Given the description of an element on the screen output the (x, y) to click on. 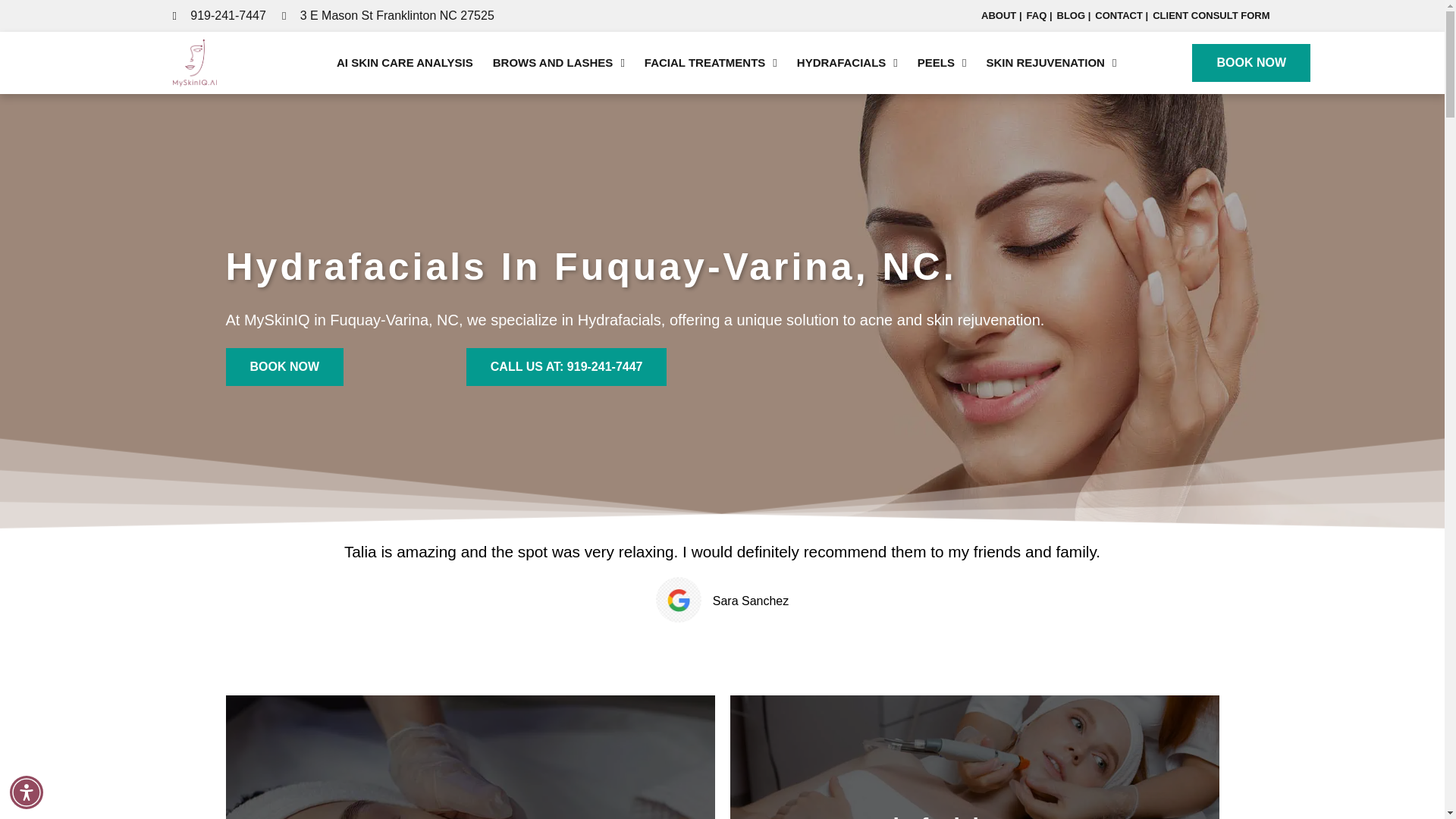
PEELS (941, 62)
3 E Mason St Franklinton NC 27525 (388, 15)
SKIN REJUVENATION (1050, 62)
CLIENT CONSULT FORM (1210, 15)
AI SKIN CARE ANALYSIS (404, 62)
BROWS AND LASHES (558, 62)
FACIAL TREATMENTS (710, 62)
919-241-7447 (219, 15)
HYDRAFACIALS (847, 62)
Accessibility Menu (26, 792)
